Given the description of an element on the screen output the (x, y) to click on. 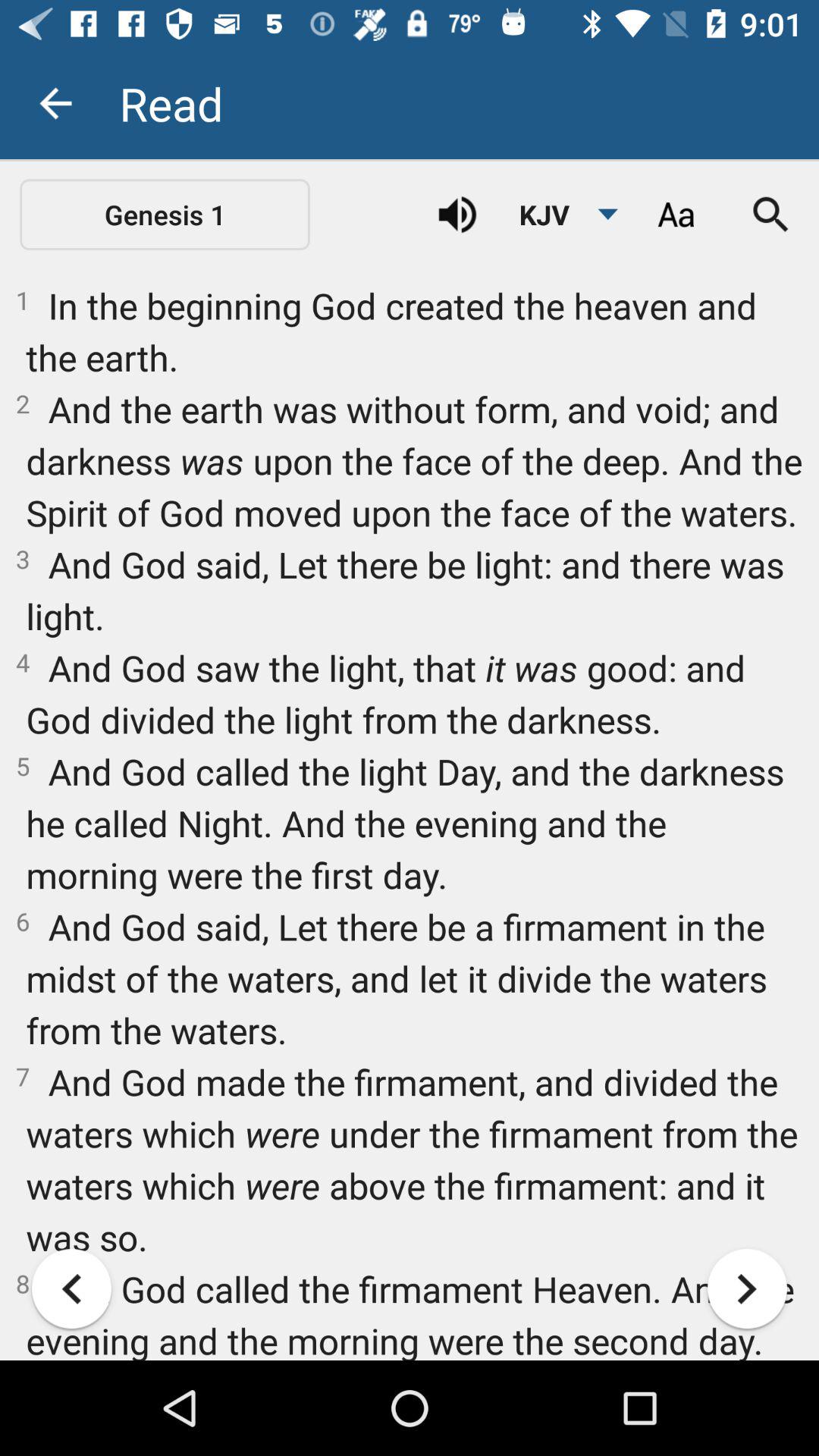
select item next to the kjv item (457, 214)
